Given the description of an element on the screen output the (x, y) to click on. 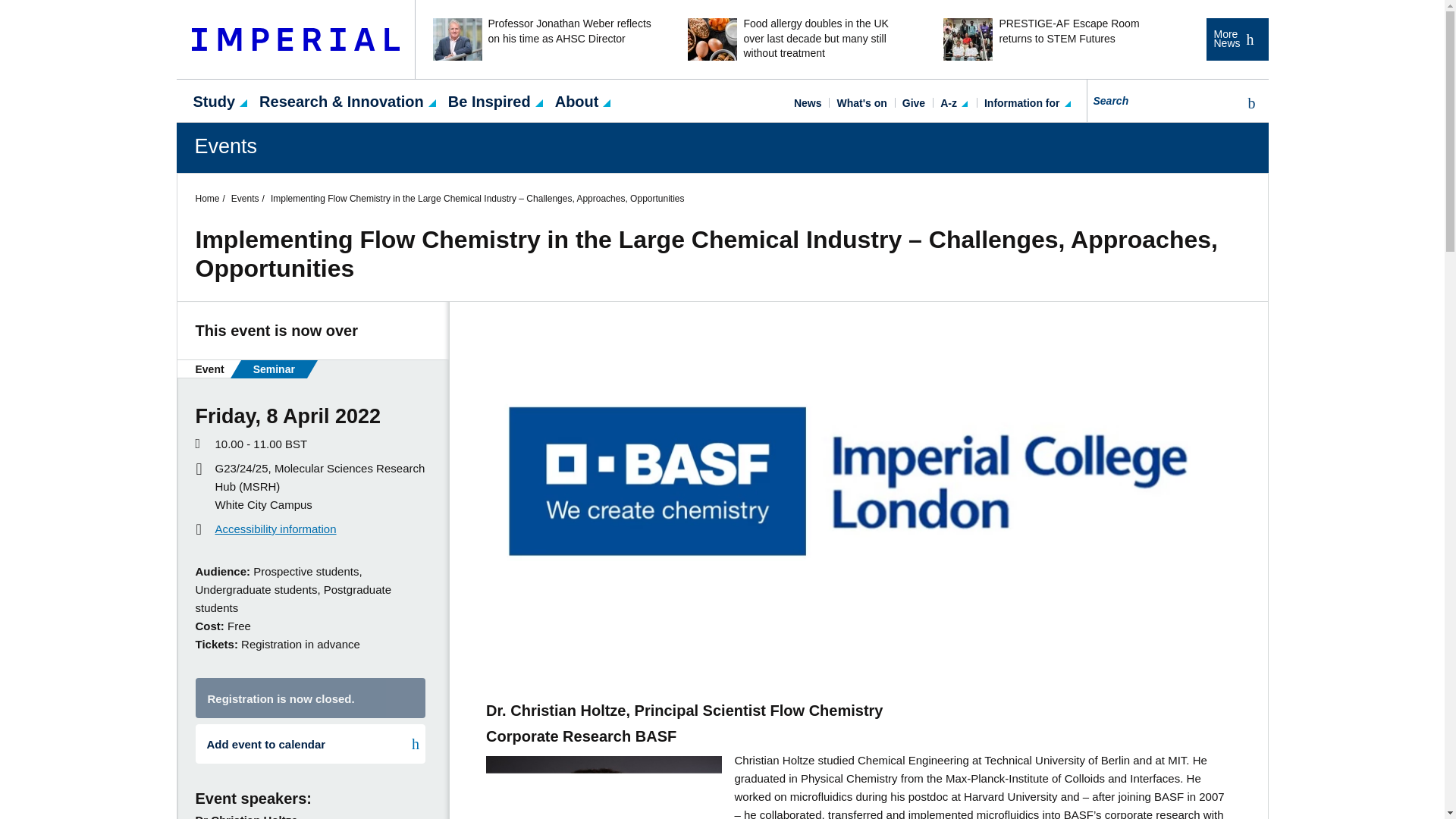
Study (213, 100)
More News (1236, 39)
Imperial College London (295, 39)
Imperial College London Home (295, 39)
Search (1249, 102)
PRESTIGE-AF Escape Room returns to STEM Futures (1053, 38)
